Given the description of an element on the screen output the (x, y) to click on. 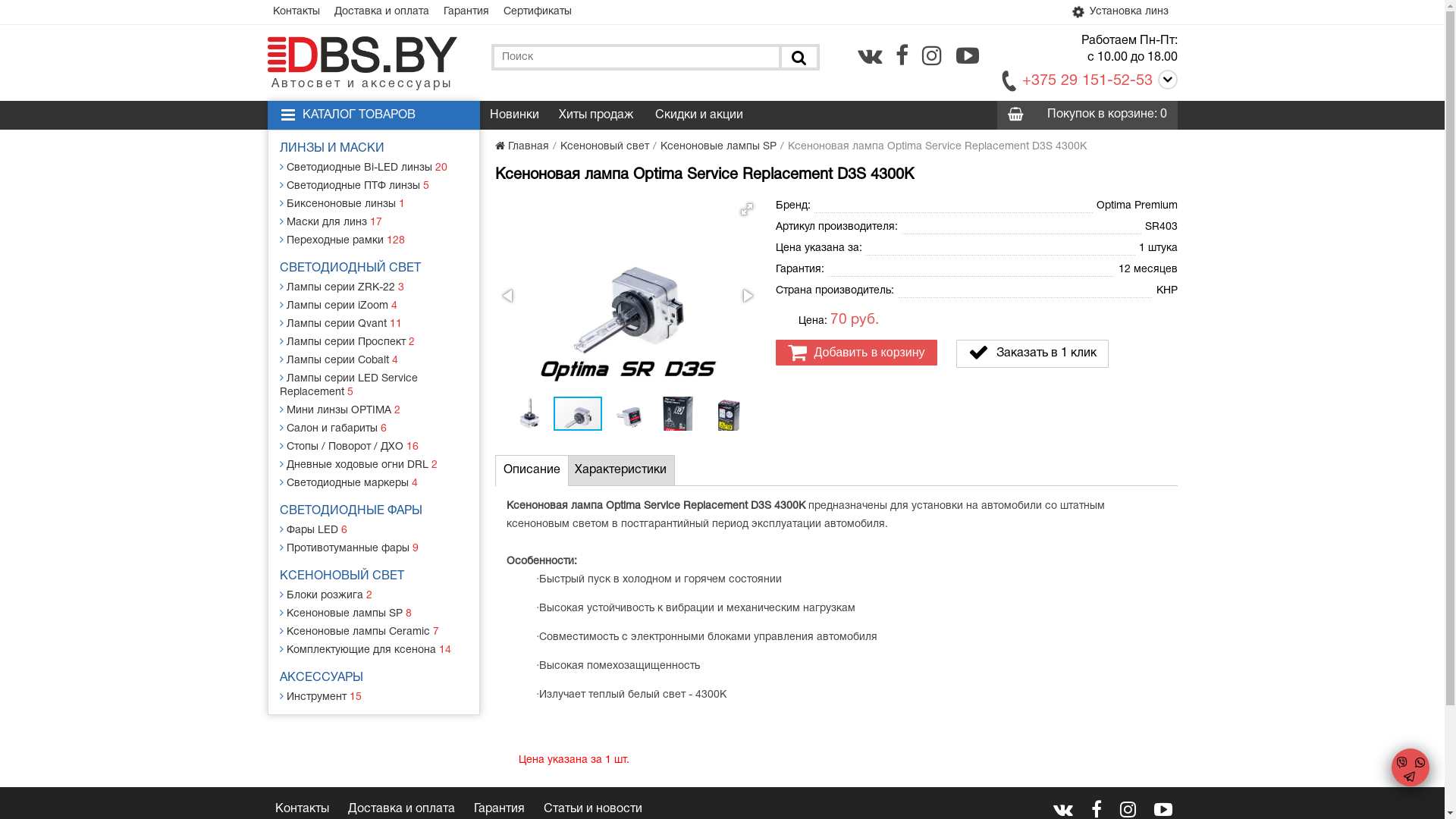
sr403-3 Element type: hover (626, 295)
dbs.by Element type: hover (361, 54)
+375 29 151-52-53 Element type: text (1087, 80)
sr403-box-2 Element type: hover (727, 413)
sr403-3 Element type: hover (577, 413)
sr403-4 Element type: hover (627, 413)
sr403-box-1 Element type: hover (677, 413)
sr403-1 Element type: hover (527, 413)
